Given the description of an element on the screen output the (x, y) to click on. 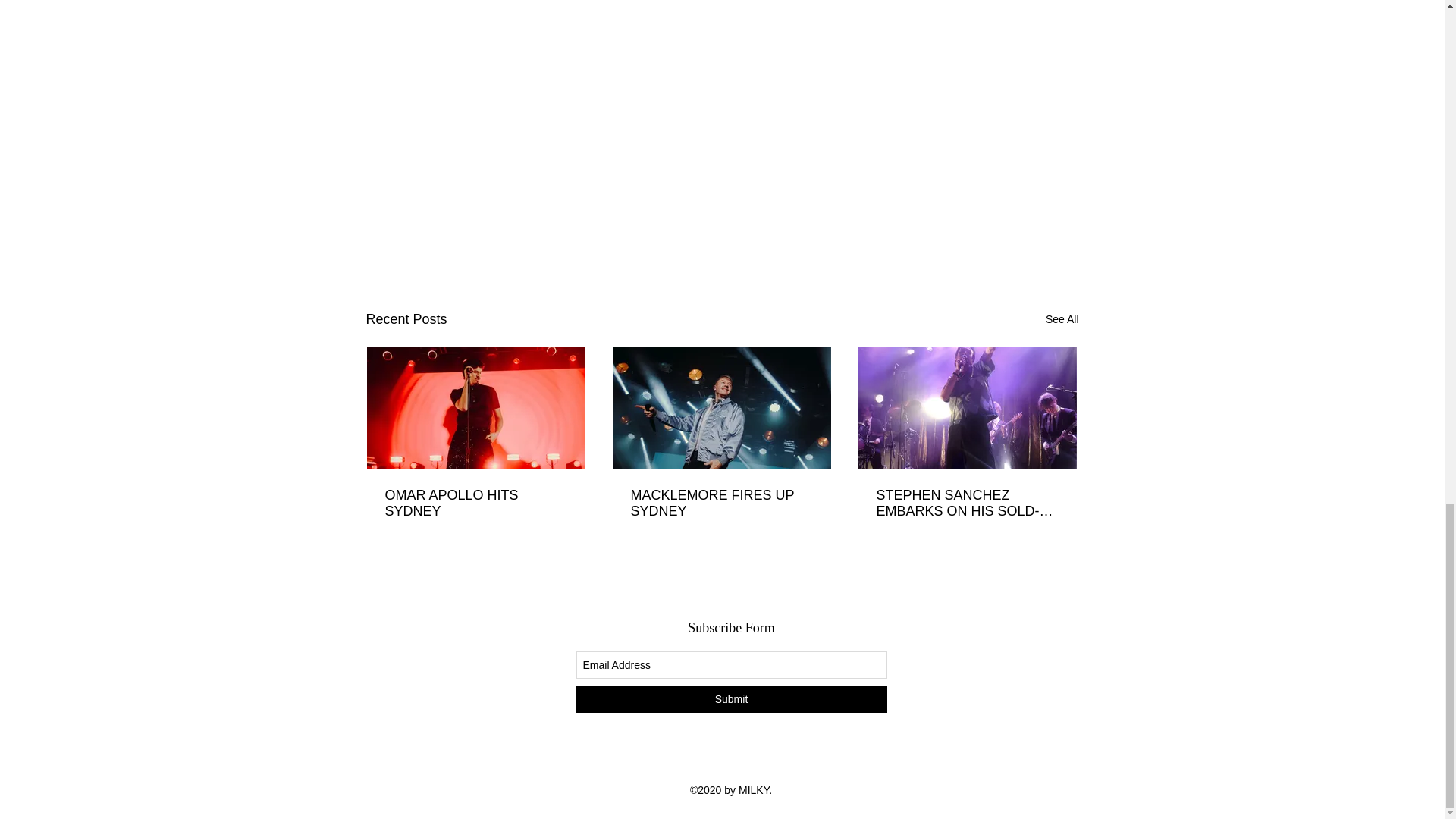
OMAR APOLLO HITS SYDNEY (476, 503)
See All (1061, 319)
Submit (731, 699)
STEPHEN SANCHEZ EMBARKS ON HIS SOLD-OUT AUSTRALIAN TOUR (967, 503)
MACKLEMORE FIRES UP SYDNEY (721, 503)
